Given the description of an element on the screen output the (x, y) to click on. 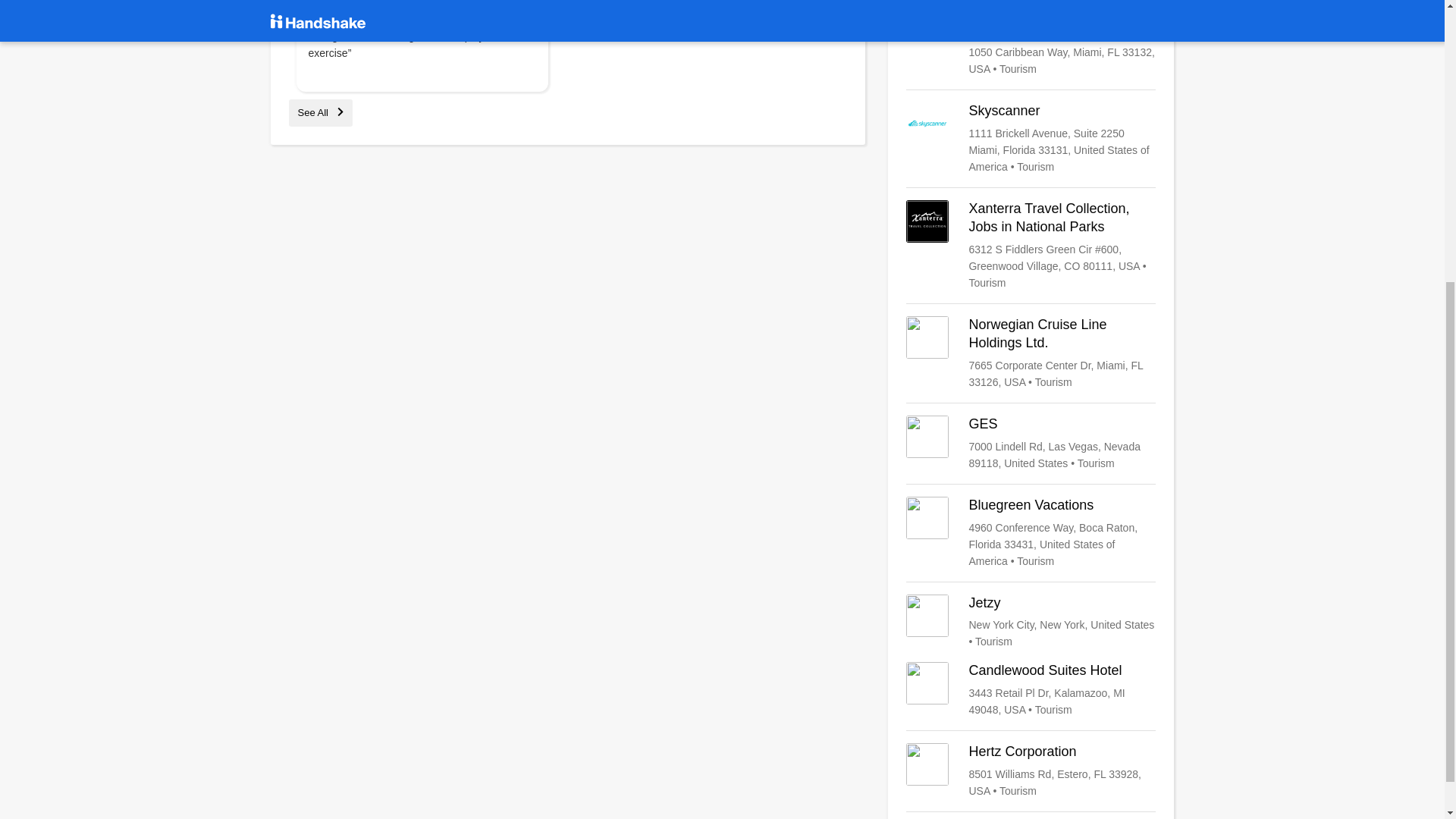
Jetzy (1030, 622)
Royal Caribbean Group (1030, 48)
Bluegreen Vacations (1030, 532)
Skyscanner (1030, 138)
Norwegian Cruise Line Holdings Ltd. (1030, 353)
Xanterra Travel Collection, Jobs in National Parks (1030, 245)
Candlewood Suites Hotel (1030, 689)
See All (320, 112)
GES (1030, 443)
Hertz Corporation (1030, 770)
